Given the description of an element on the screen output the (x, y) to click on. 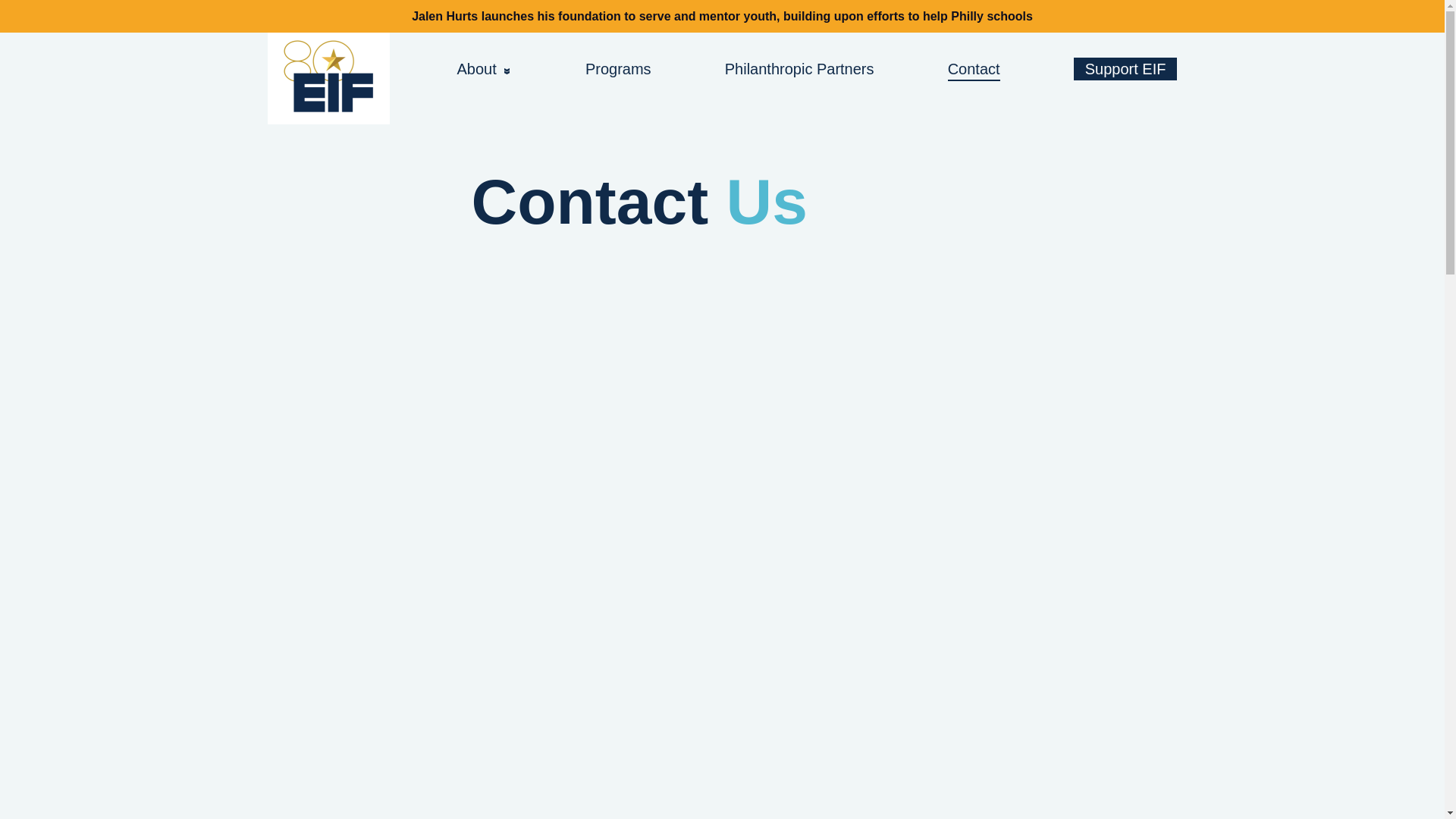
Contact (973, 68)
Philanthropic Partners (800, 68)
Support EIF (1125, 68)
About (484, 68)
Programs (721, 56)
